Given the description of an element on the screen output the (x, y) to click on. 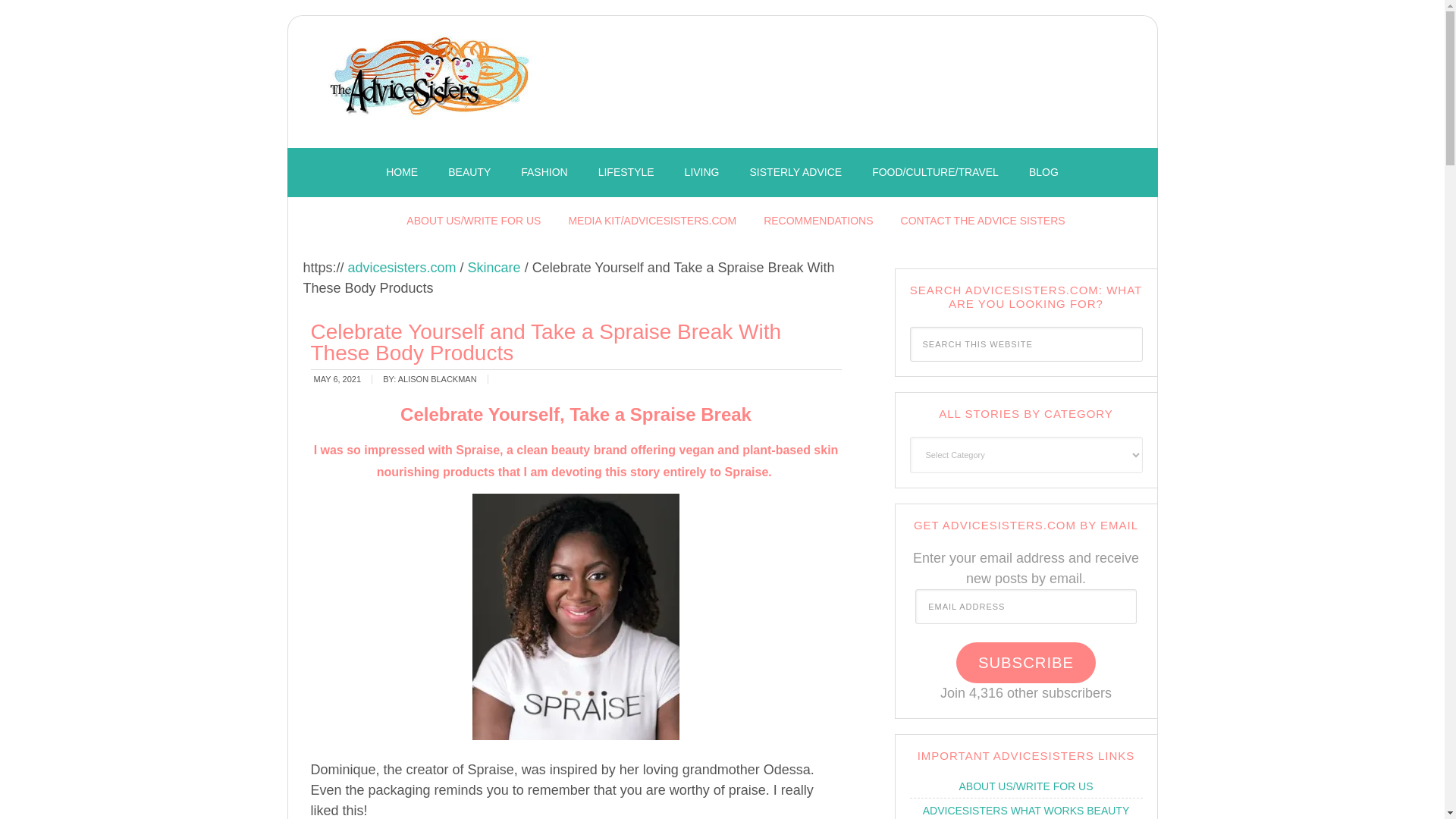
LIVING (702, 172)
SISTERLY ADVICE (796, 172)
HOME (401, 172)
FASHION (543, 172)
advicesisters.com Has Ideas for life, love and happiness (432, 85)
HOME (401, 172)
Contact (982, 220)
BLOG (1043, 172)
RECOMMENDATIONS (817, 220)
BEAUTY (468, 172)
LIFESTYLE (626, 172)
